Given the description of an element on the screen output the (x, y) to click on. 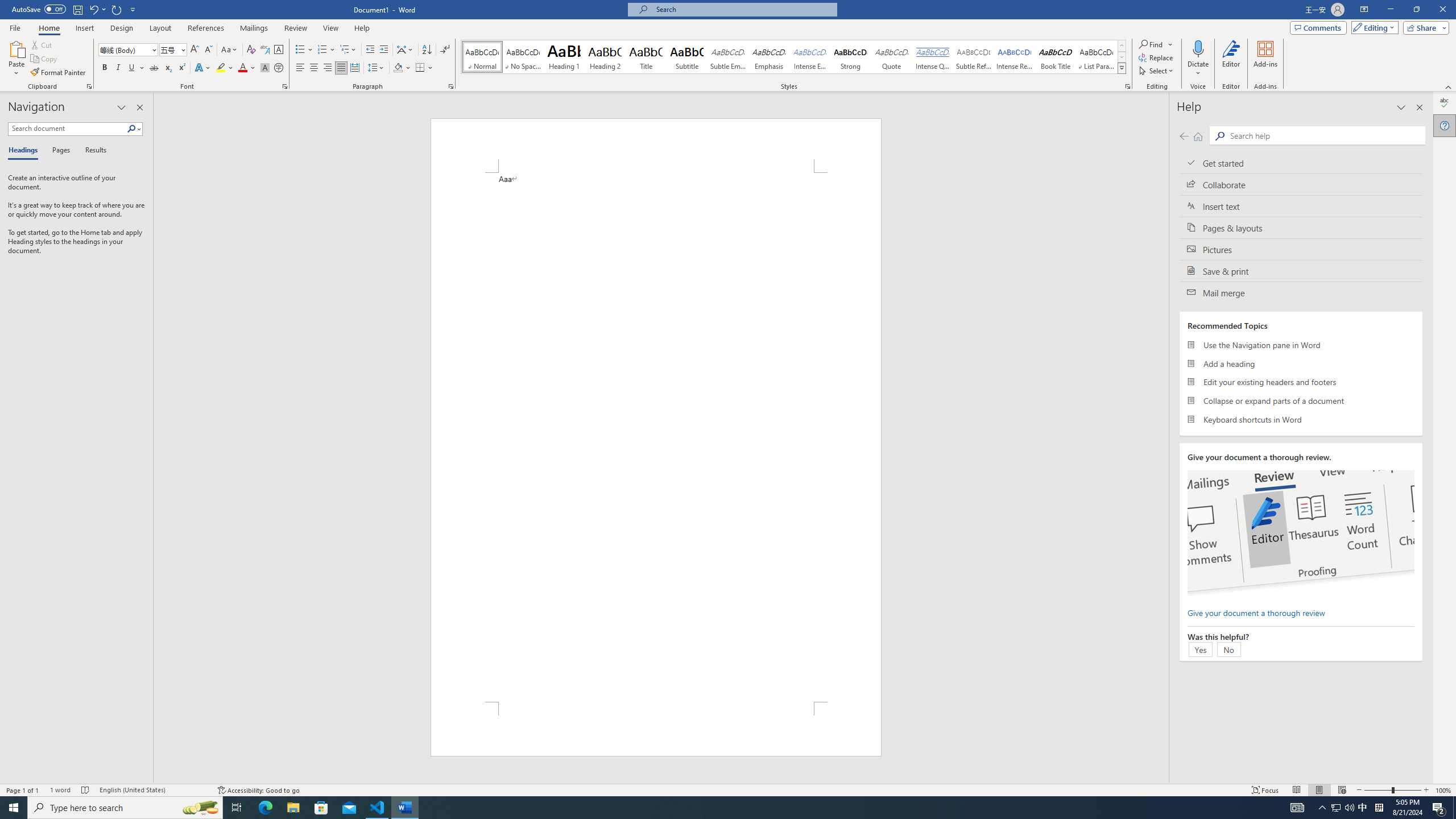
Change Case (229, 49)
System (6, 6)
Dictate (1197, 48)
Font (128, 49)
Title (646, 56)
Sort... (426, 49)
Quote (891, 56)
Keyboard shortcuts in Word (1300, 419)
Read Mode (1296, 790)
Distributed (354, 67)
Zoom In (1426, 790)
Font... (285, 85)
Page 1 content (655, 436)
Styles... (1127, 85)
